Given the description of an element on the screen output the (x, y) to click on. 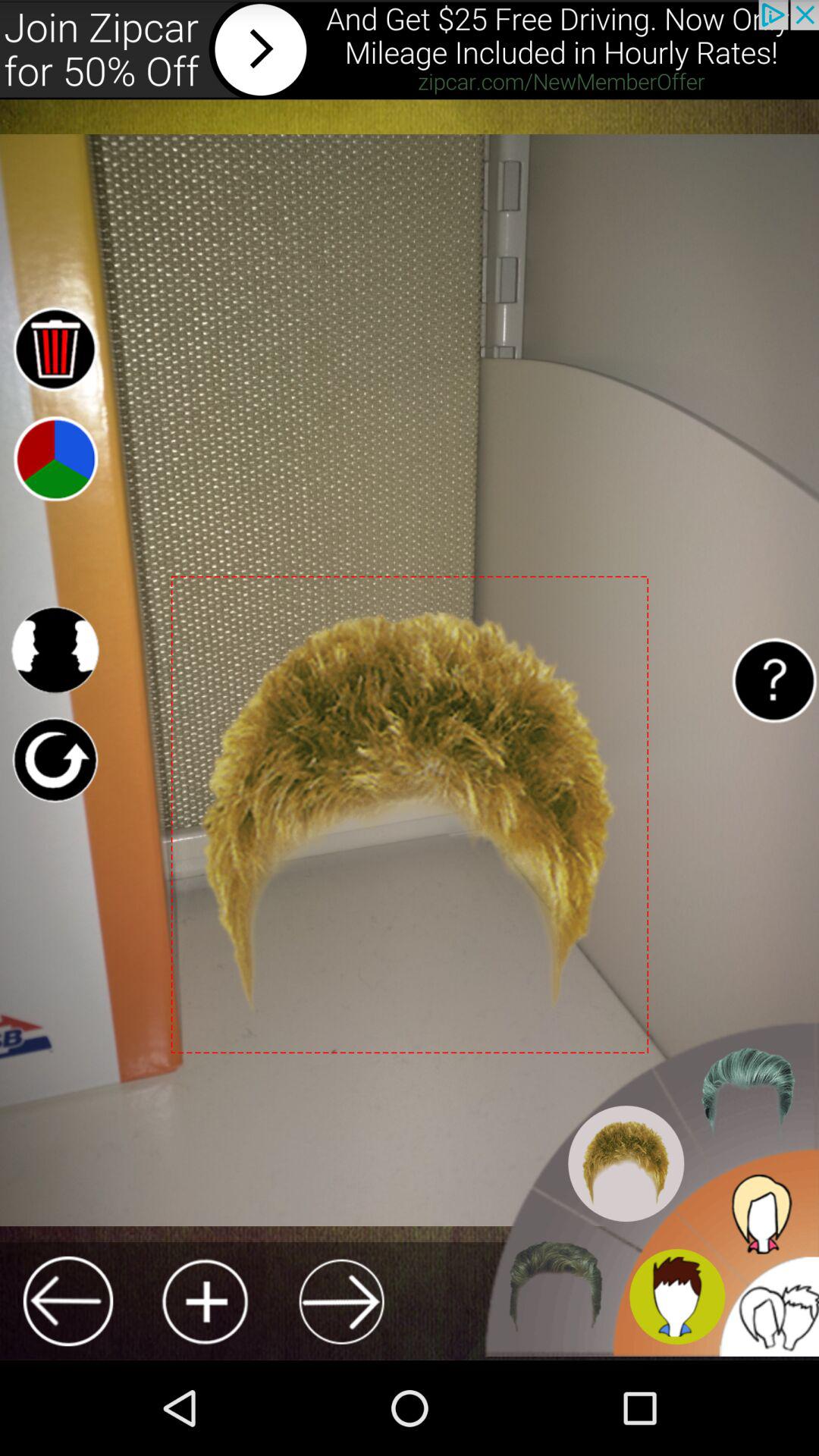
go back (68, 1301)
